Given the description of an element on the screen output the (x, y) to click on. 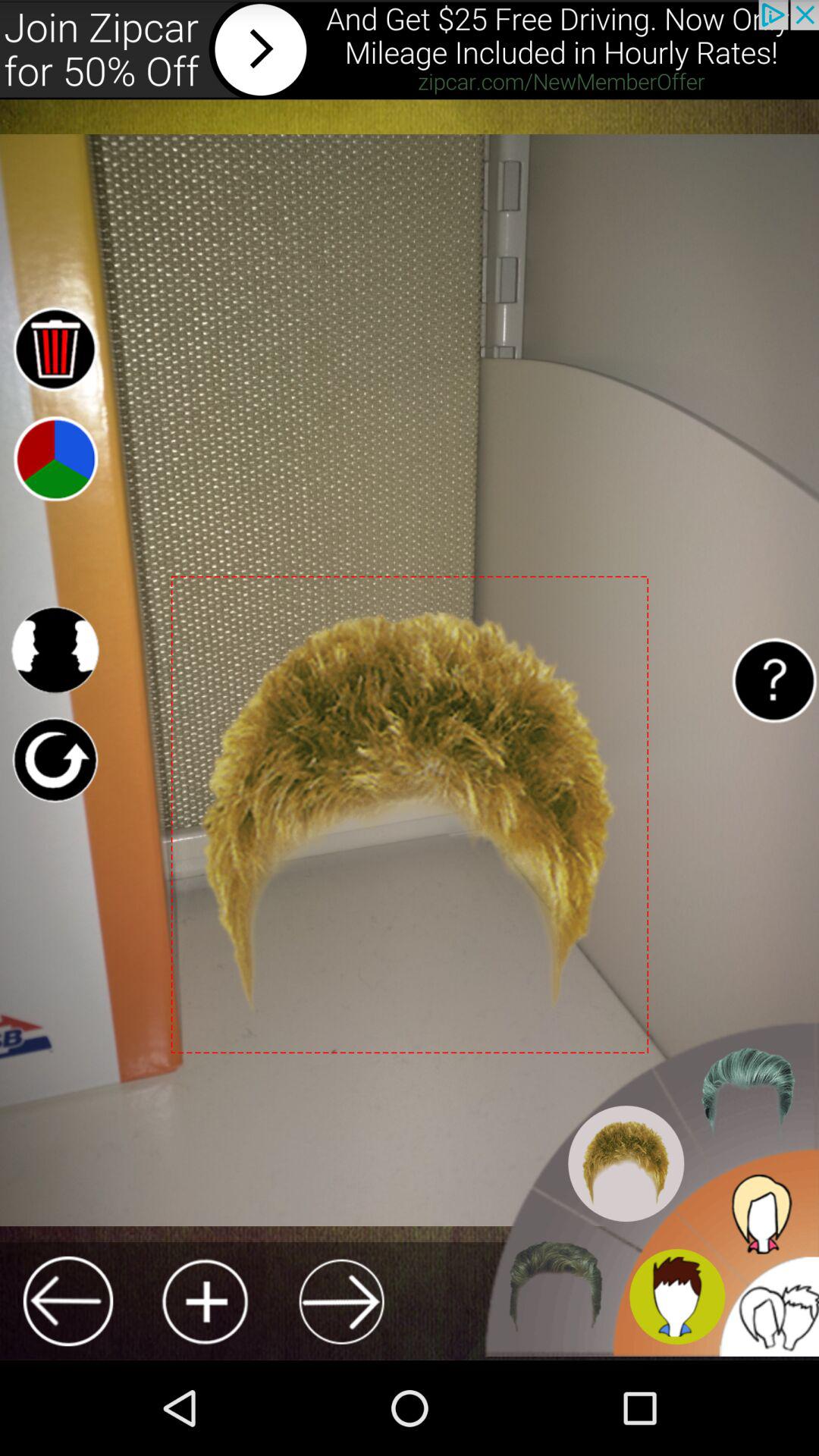
go back (68, 1301)
